Given the description of an element on the screen output the (x, y) to click on. 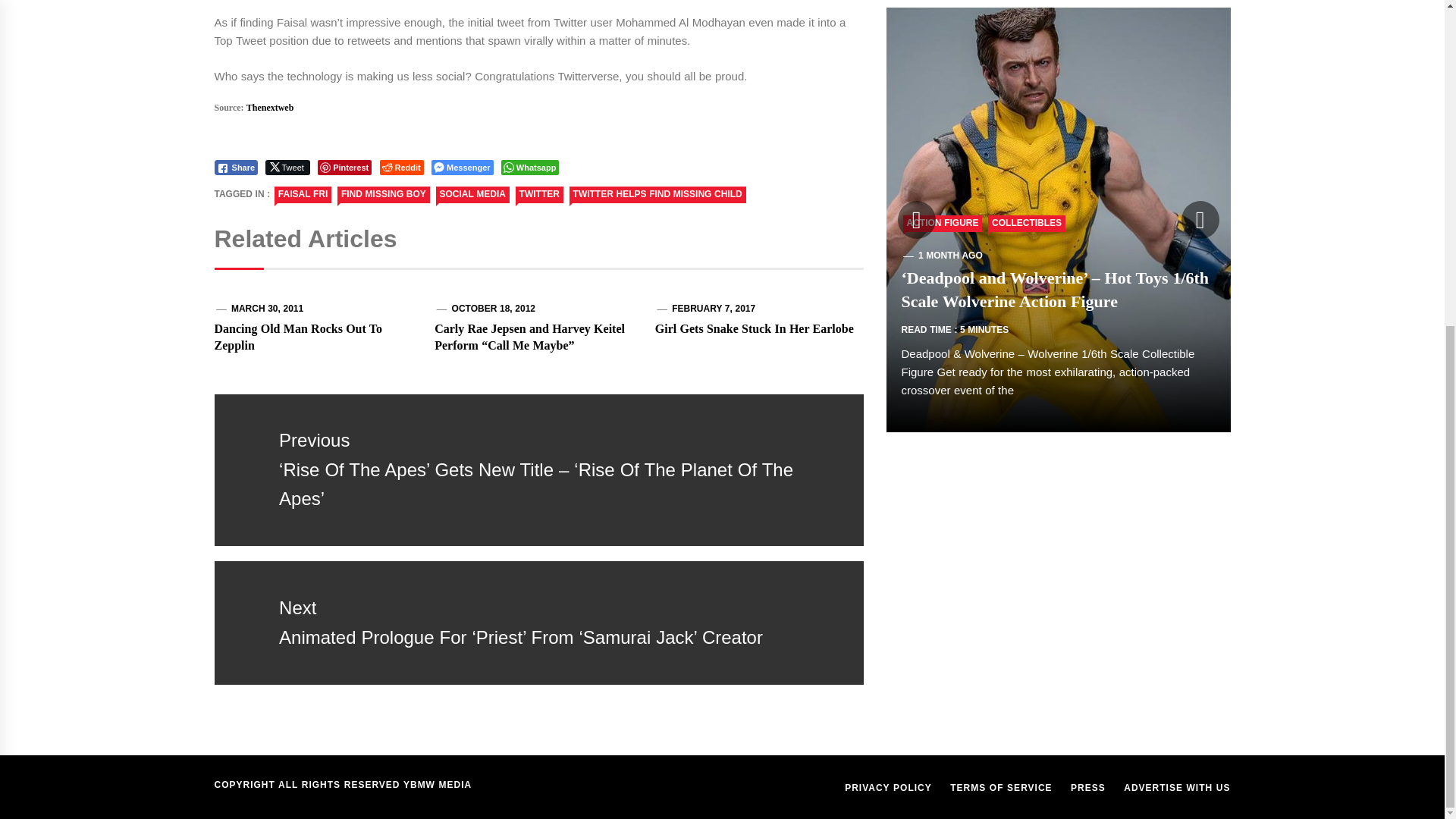
Whatsapp (529, 167)
Thenextweb (270, 107)
Messenger (461, 167)
FIND MISSING BOY (383, 194)
FAISAL FRI (303, 194)
Pinterest (344, 167)
SOCIAL MEDIA (472, 194)
Reddit (401, 167)
TWITTER (539, 194)
Share (235, 167)
Tweet (286, 167)
